Given the description of an element on the screen output the (x, y) to click on. 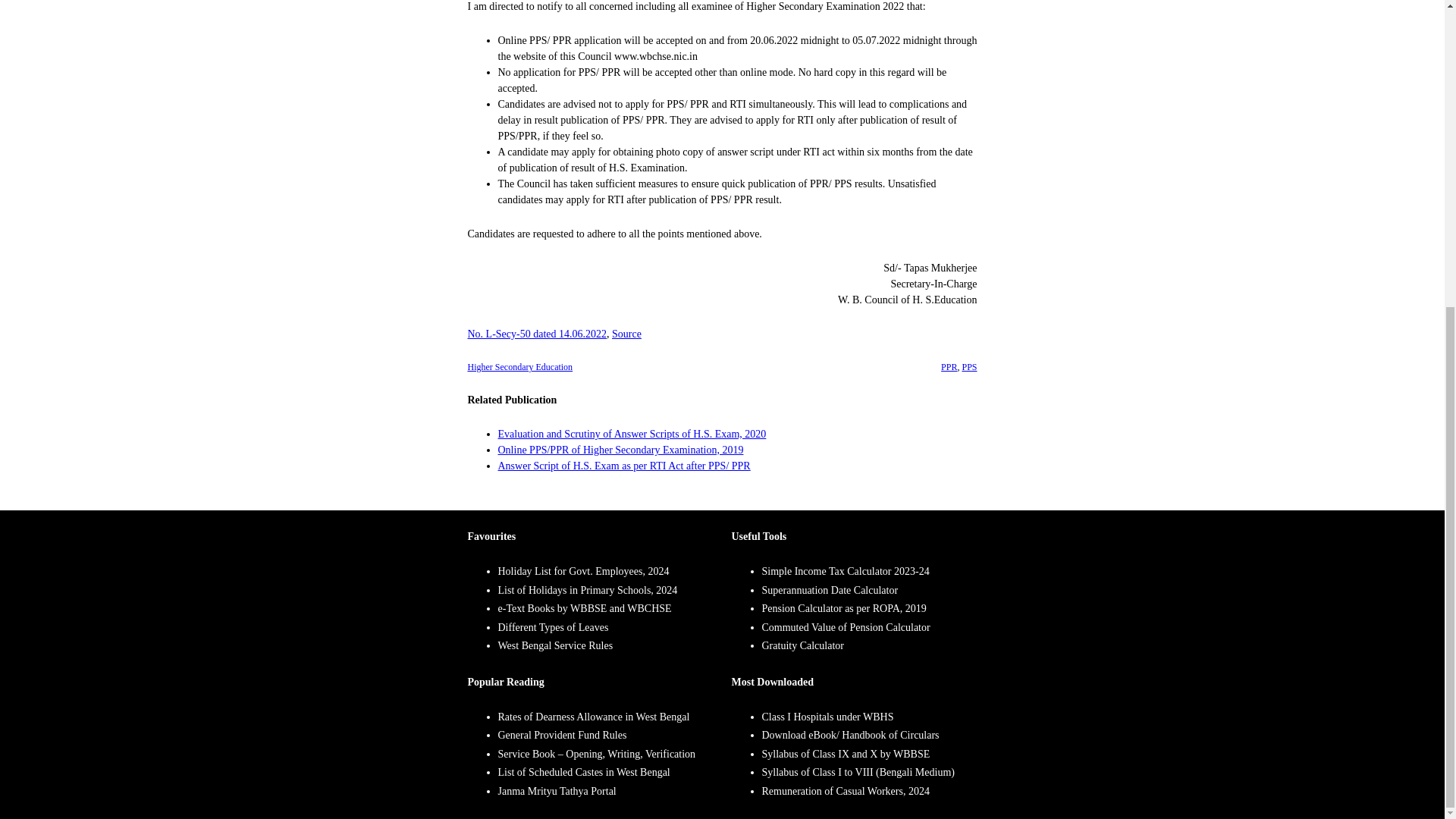
List of Holidays in Primary Schools, 2024 (587, 590)
Superannuation Date Calculator (829, 590)
Rates of Dearness Allowance in West Bengal (592, 715)
PPR (948, 366)
e-Text Books by WBBSE and WBCHSE (584, 608)
PPS (968, 366)
Higher Secondary Education (519, 366)
Commuted Value of Pension Calculator (845, 626)
Syllabus of Class IX and X by WBBSE (845, 754)
Source (626, 333)
Pension Calculator as per ROPA, 2019 (843, 608)
Simple Income Tax Calculator 2023-24 (844, 571)
No. L-Secy-50 dated 14.06.2022 (537, 333)
General Provident Fund Rules (561, 735)
Holiday List for Govt. Employees, 2024 (582, 571)
